Given the description of an element on the screen output the (x, y) to click on. 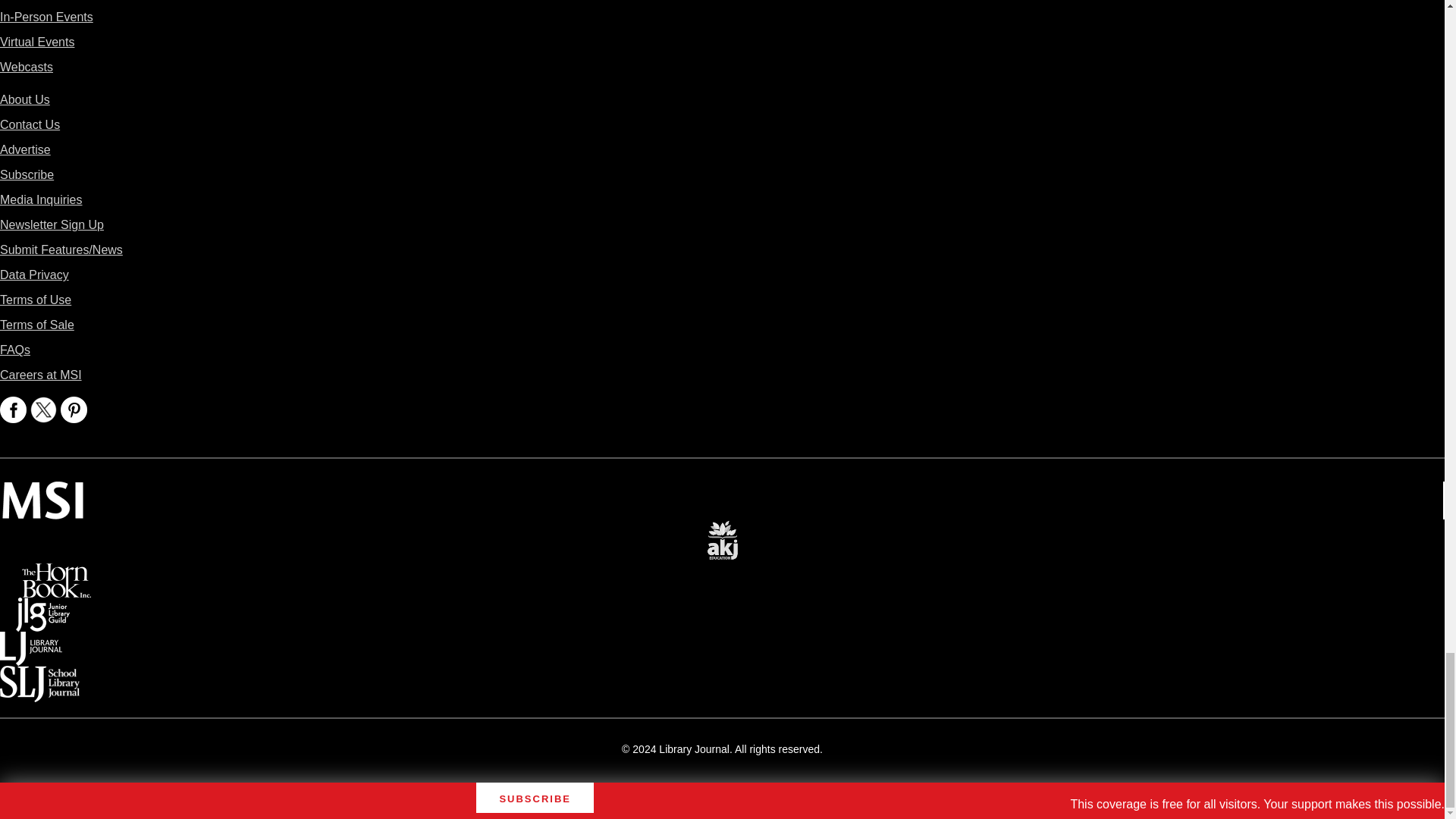
AKJ (722, 529)
Media Source Incorporated (42, 491)
The Horn Book (56, 572)
Junior Library Guild (42, 607)
School Library Journal (40, 676)
